Given the description of an element on the screen output the (x, y) to click on. 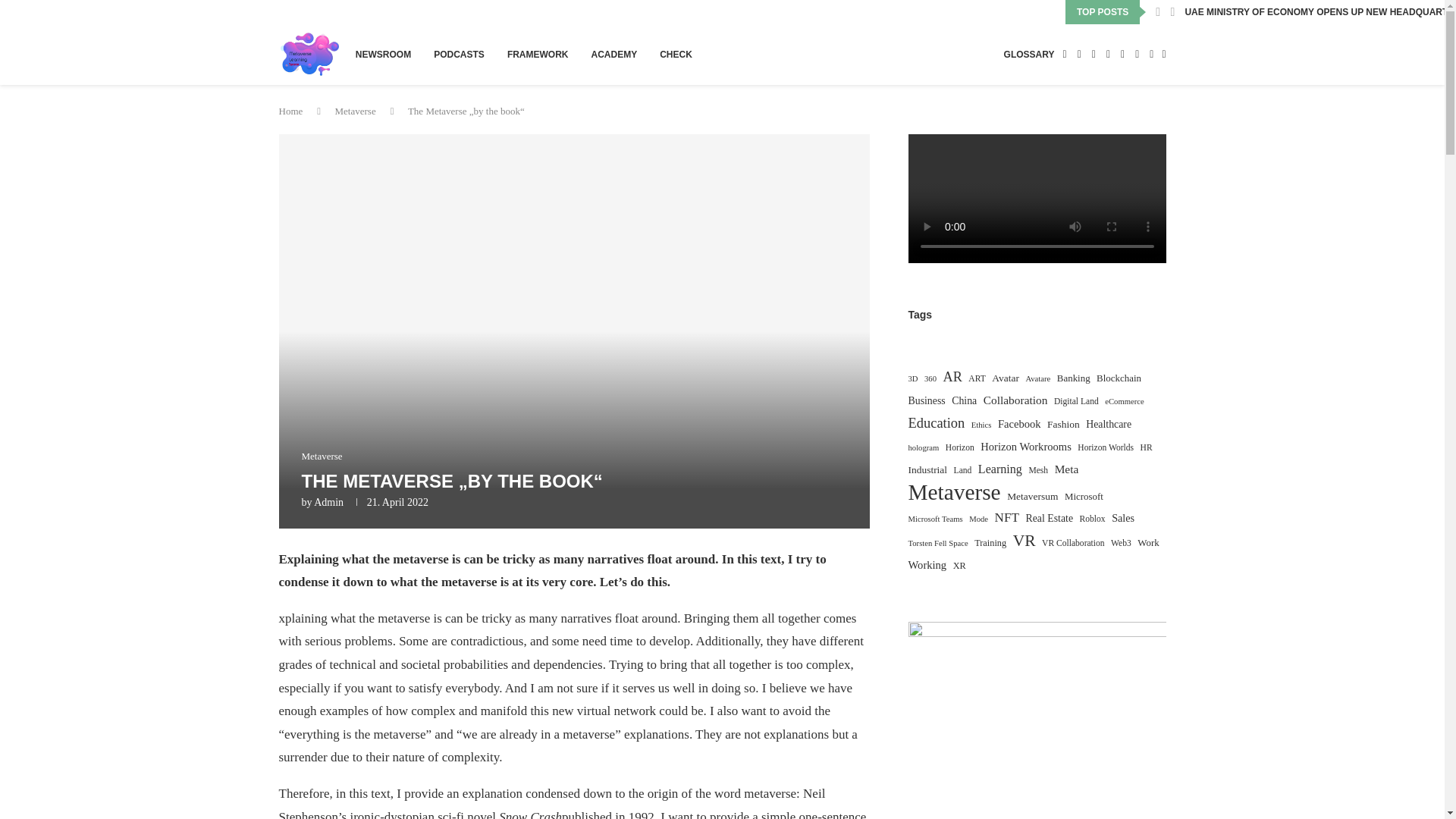
NEWSROOM (382, 54)
PODCASTS (458, 54)
GLOSSARY (1029, 54)
ACADEMY (614, 54)
FRAMEWORK (537, 54)
